Given the description of an element on the screen output the (x, y) to click on. 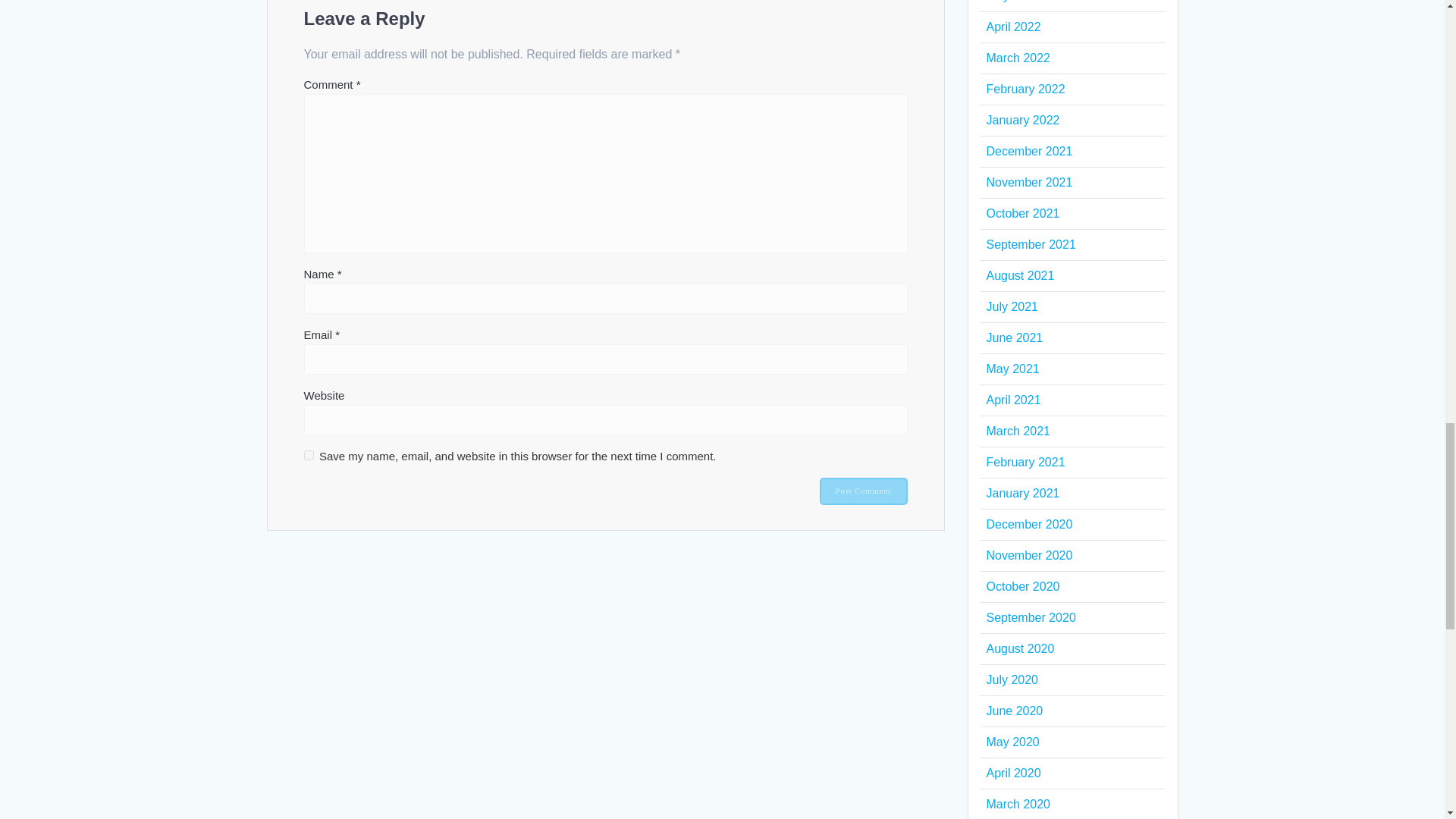
Post Comment (863, 491)
yes (307, 455)
